Given the description of an element on the screen output the (x, y) to click on. 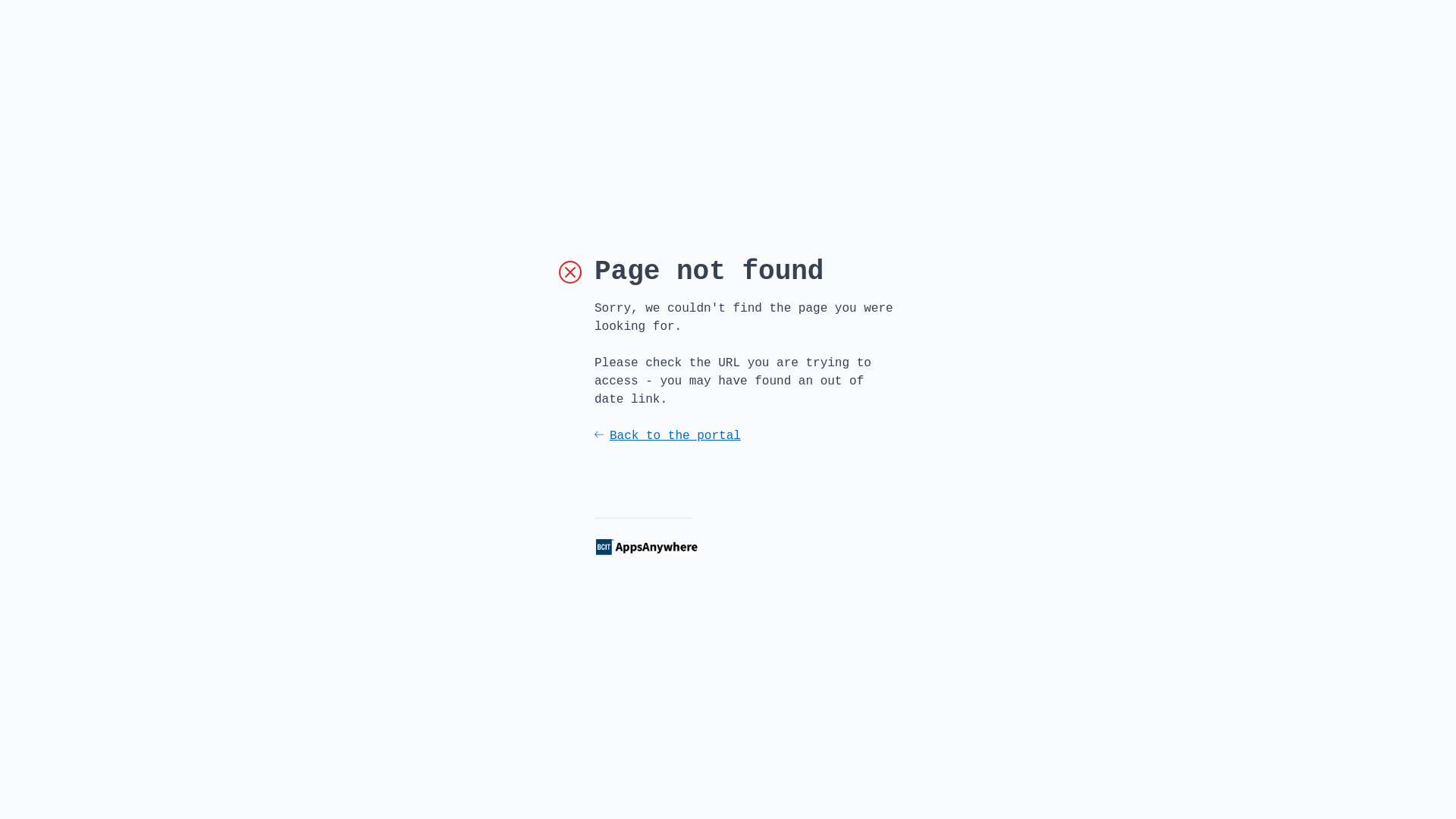
Back to the portal Element type: text (745, 435)
